Given the description of an element on the screen output the (x, y) to click on. 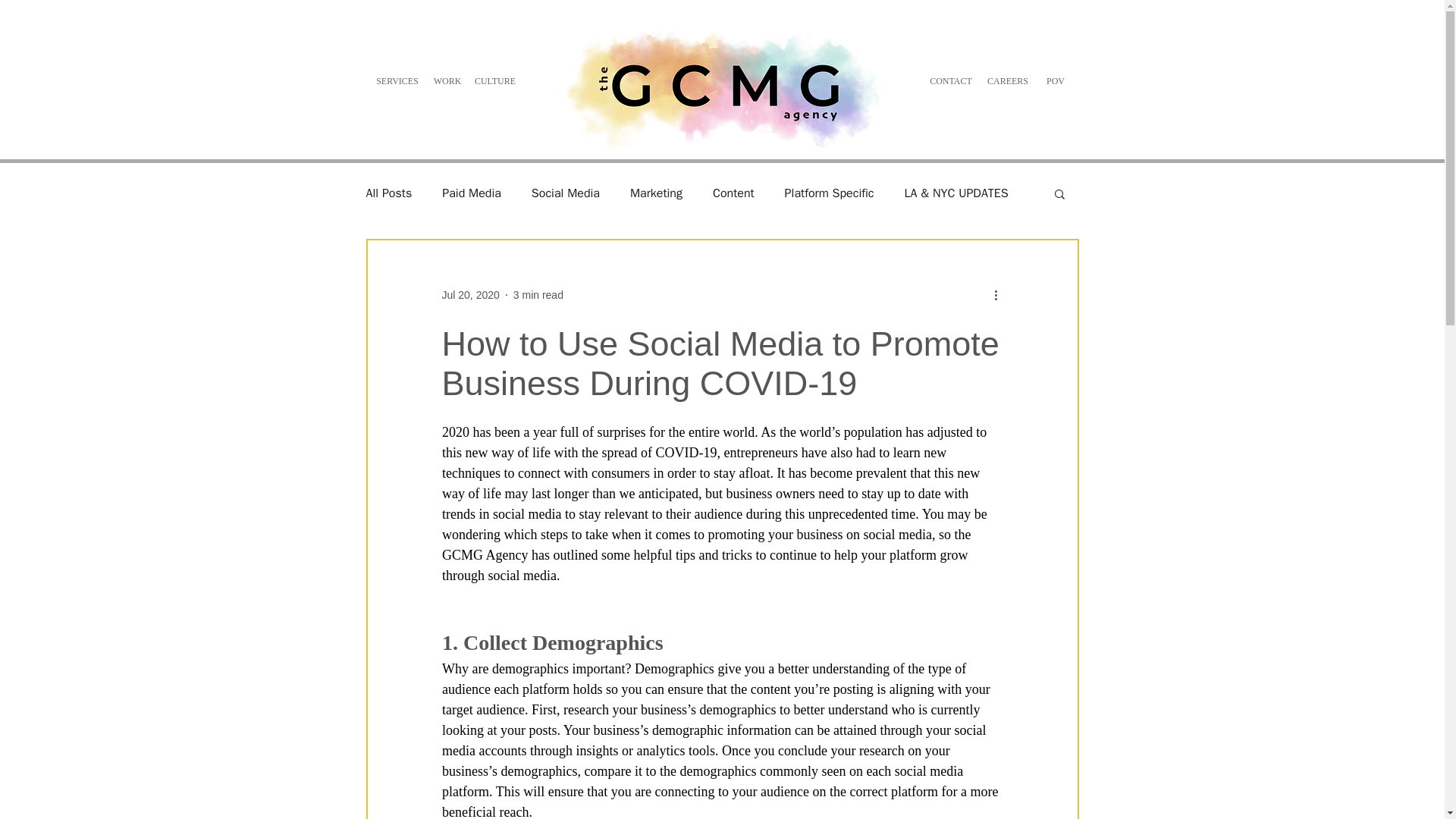
Social Media (565, 192)
Marketing (656, 192)
All Posts (388, 192)
CULTURE (494, 81)
Jul 20, 2020 (470, 294)
Paid Media (471, 192)
Content (733, 192)
CONTACT (950, 81)
SERVICES (396, 81)
WORK (446, 81)
